Given the description of an element on the screen output the (x, y) to click on. 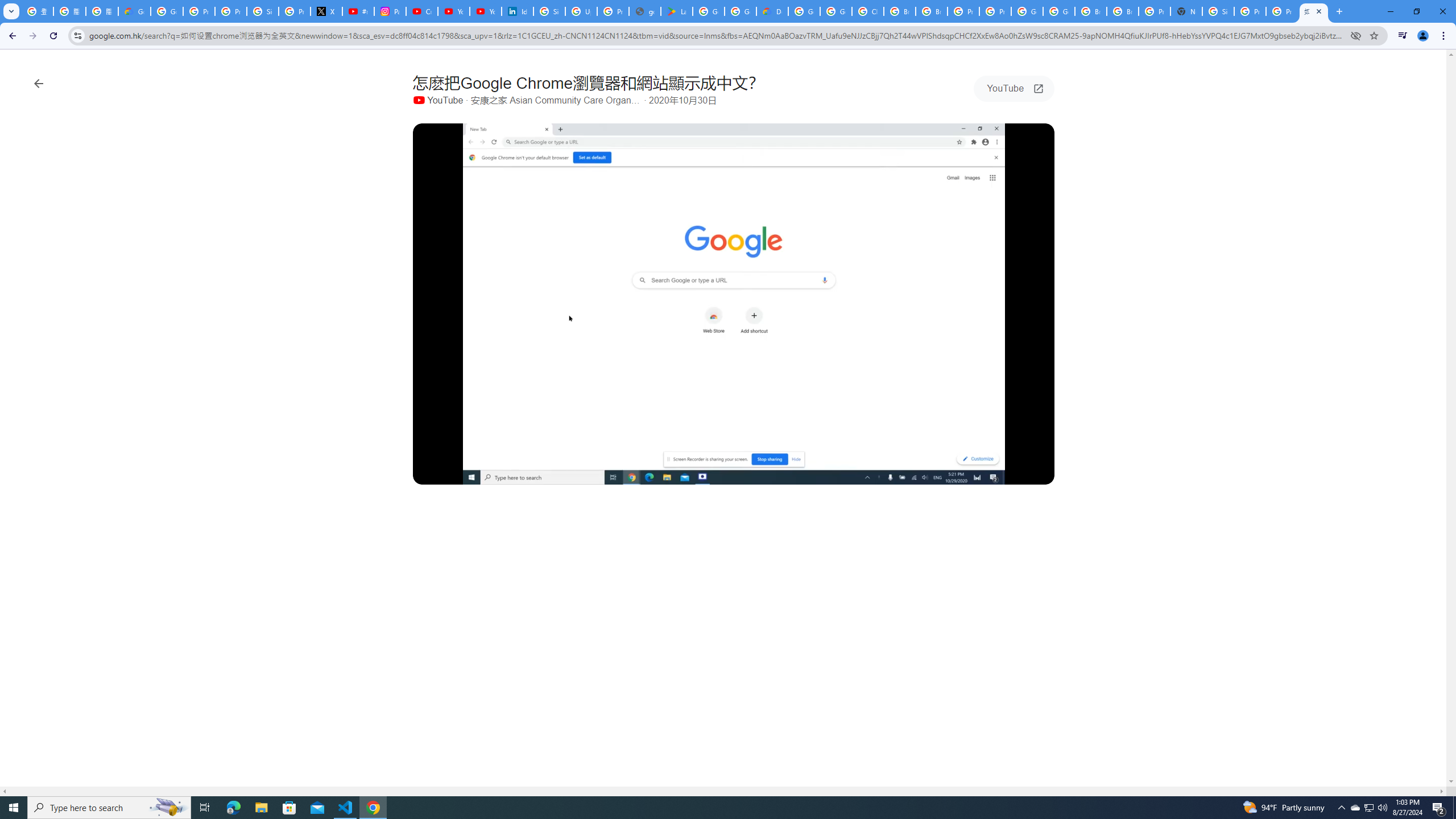
Google Cloud Platform (1059, 11)
Privacy Help Center - Policies Help (230, 11)
